Given the description of an element on the screen output the (x, y) to click on. 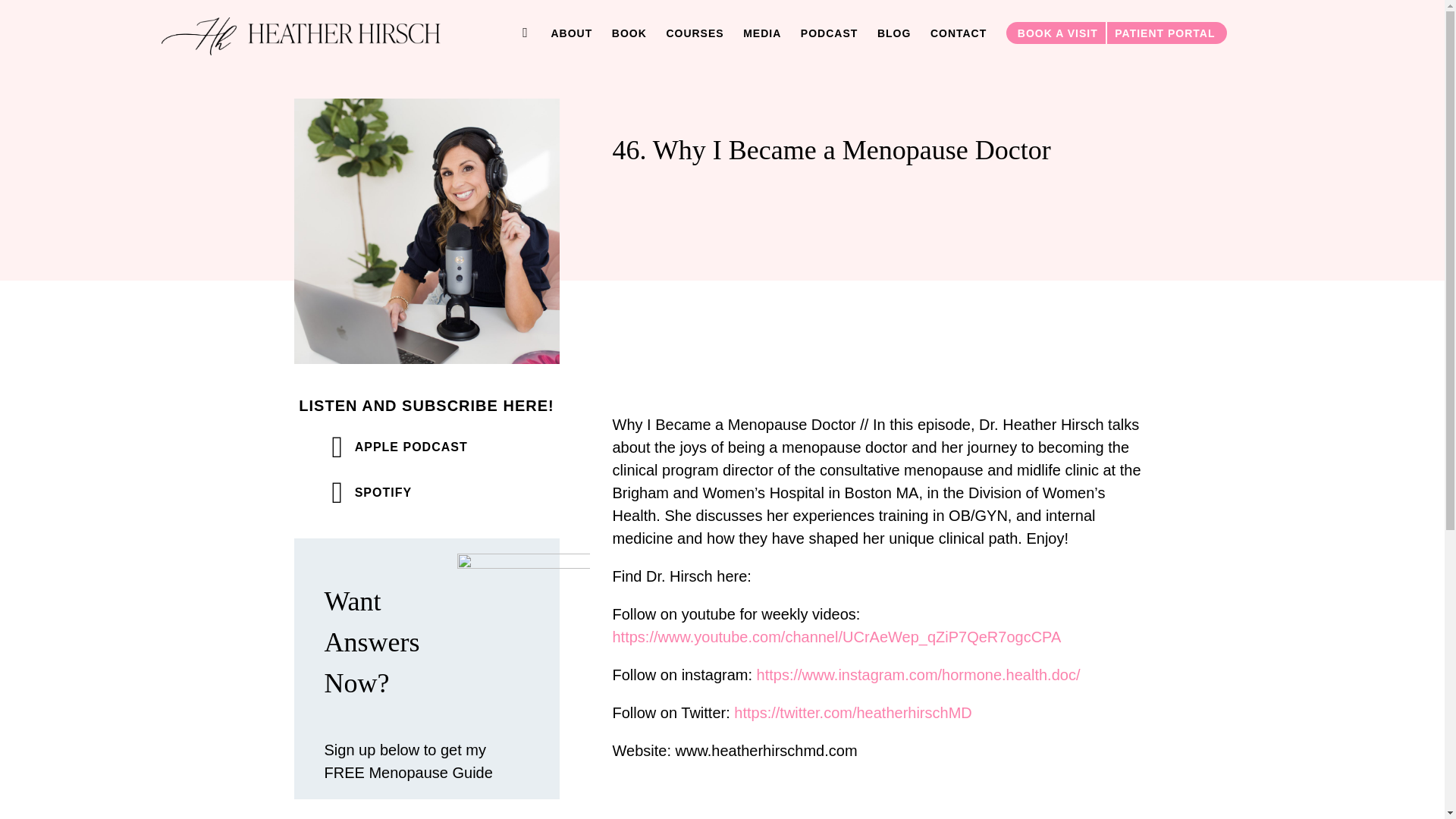
BLOG (894, 33)
PODCAST (828, 33)
ABOUT (571, 33)
BOOK A VISIT (1055, 33)
SPOTIFY (371, 492)
APPLE PODCAST (399, 447)
PATIENT PORTAL (1165, 33)
CONTACT (958, 33)
MEDIA (761, 33)
COURSES (694, 33)
